Given the description of an element on the screen output the (x, y) to click on. 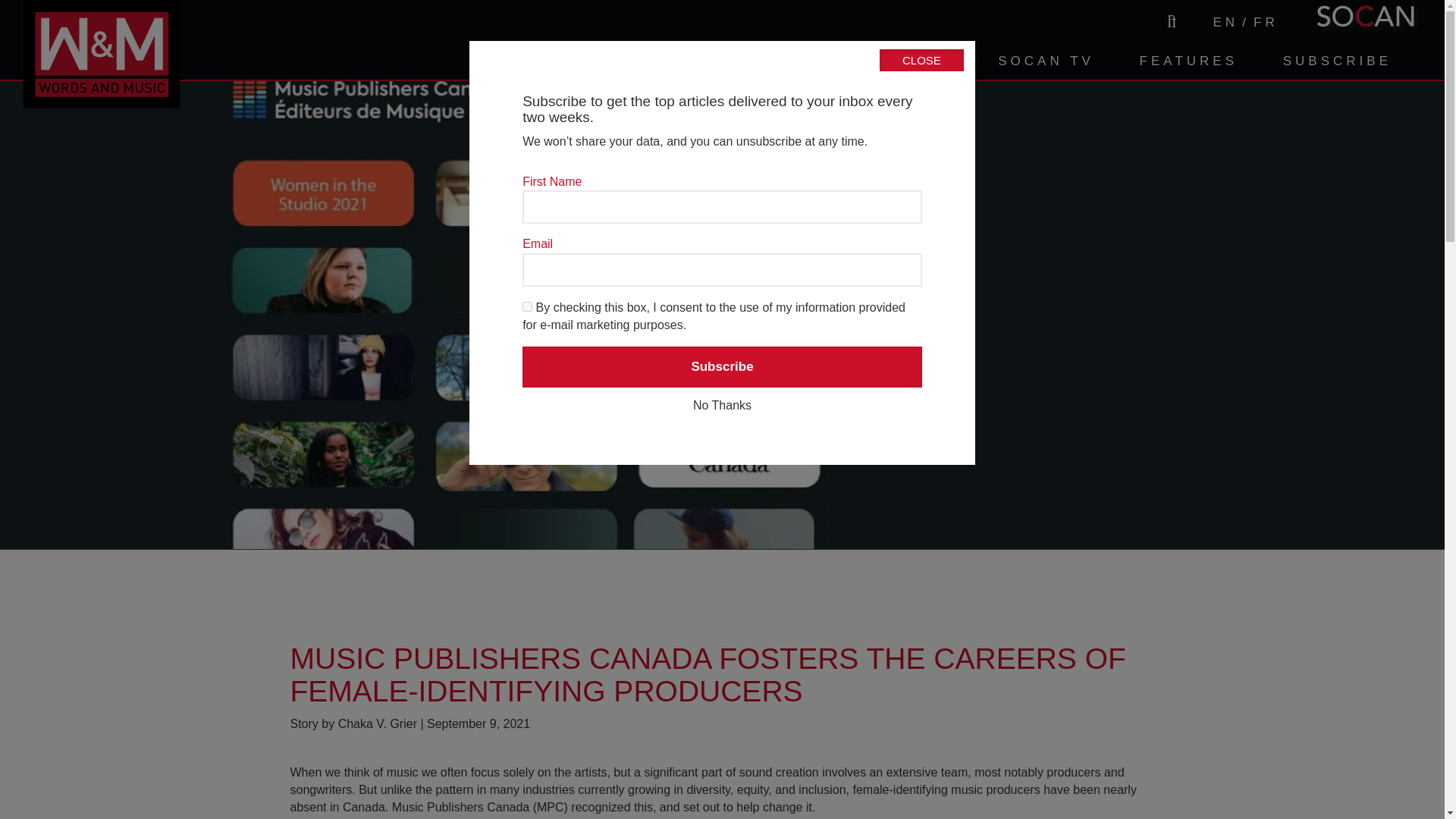
FEATURES (1188, 60)
EN (1225, 22)
SOCAN TV (1045, 60)
FR (1265, 22)
SEARCH TOGGLE (1169, 21)
1 (527, 307)
NEWS (926, 60)
